Given the description of an element on the screen output the (x, y) to click on. 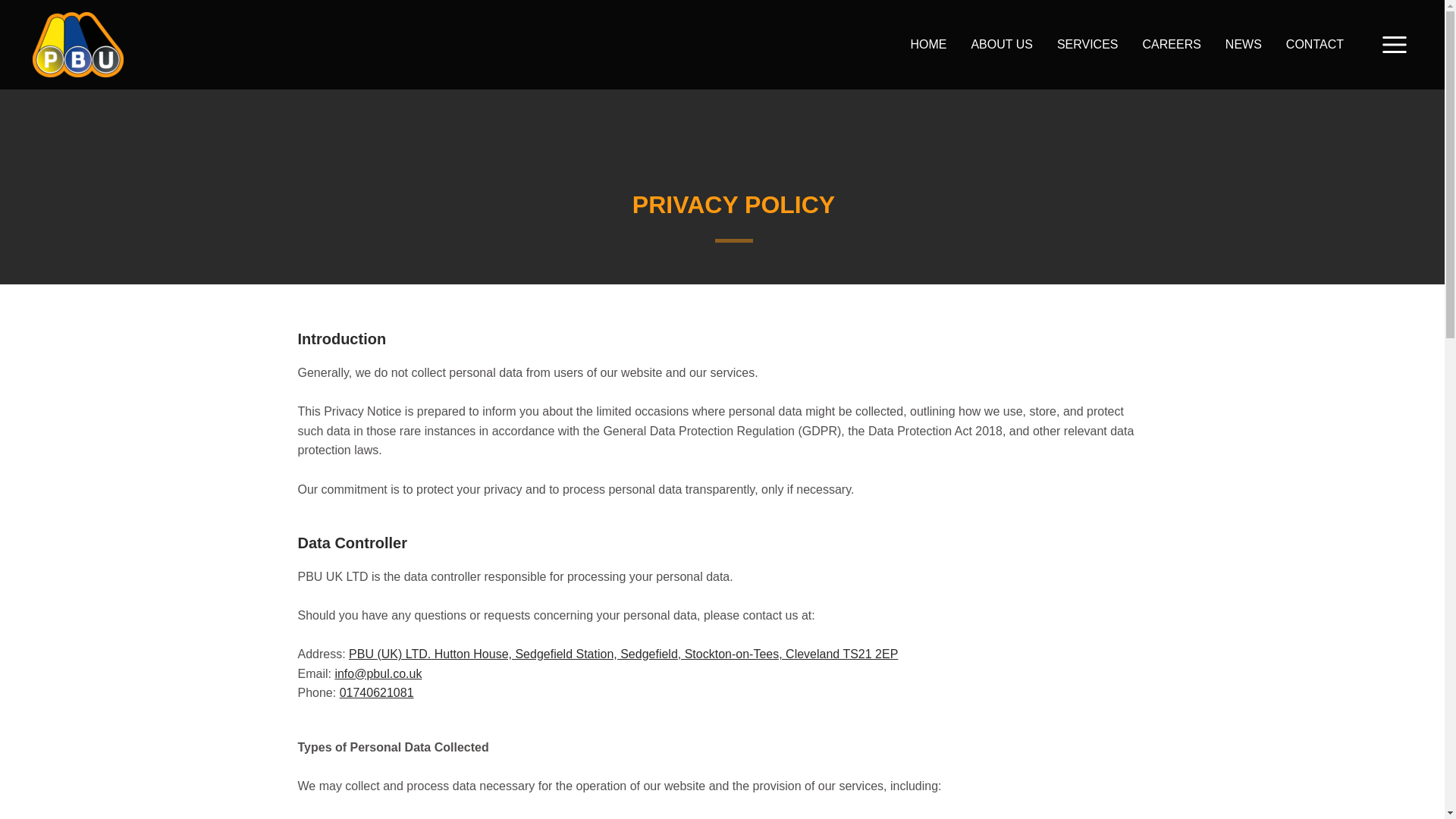
SERVICES (1088, 44)
HOME (928, 44)
ABOUT US (1001, 44)
CAREERS (1170, 44)
CONTACT (1314, 44)
01740621081 (376, 692)
NEWS (1243, 44)
